Given the description of an element on the screen output the (x, y) to click on. 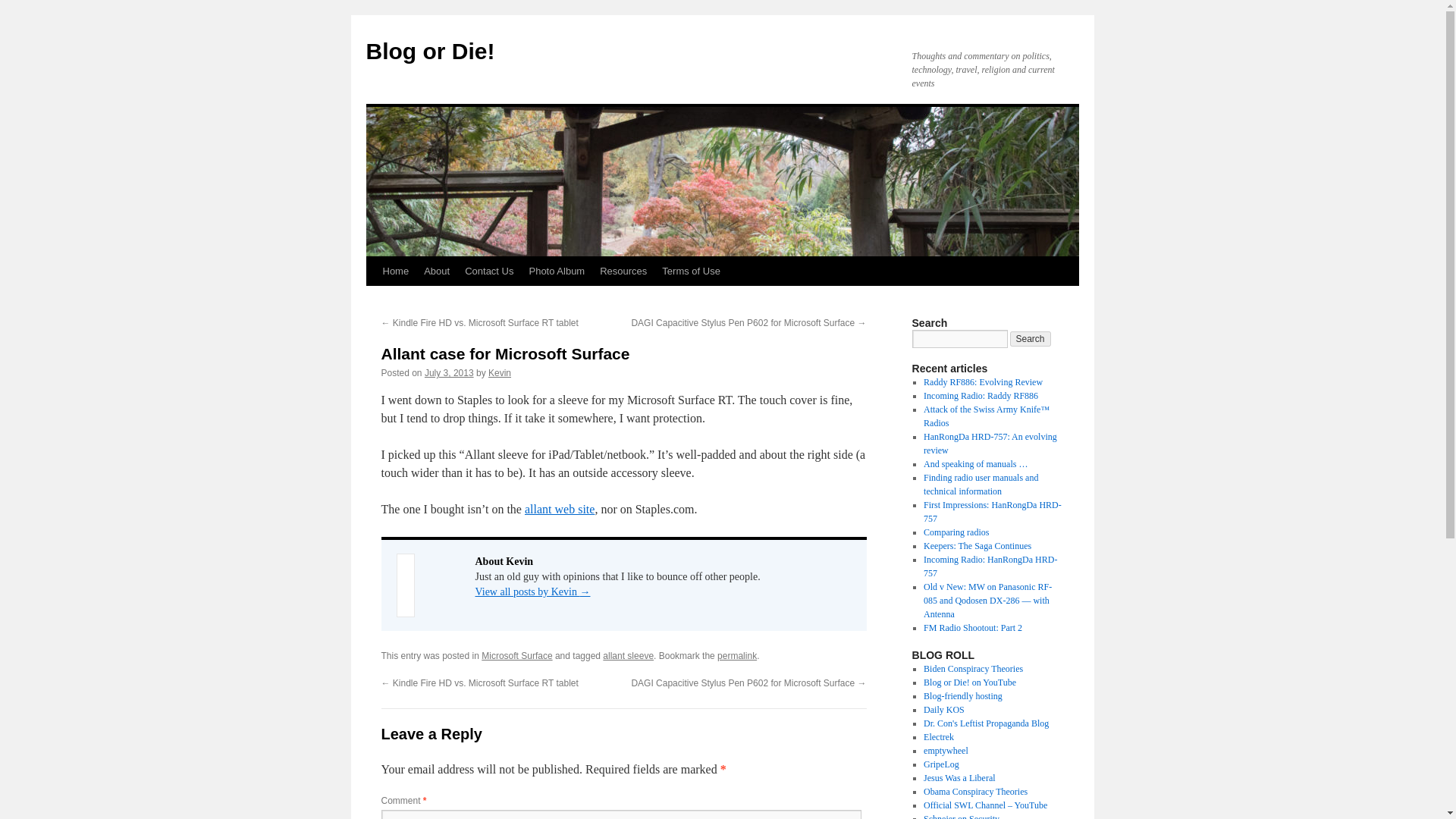
Comparing radios (955, 532)
HanRongDa HRD-757: An evolving review (990, 443)
Keepers: The Saga Continues (976, 545)
Contact Us (489, 271)
allant web site (559, 508)
Finding radio user manuals and technical information (980, 484)
Permalink to Allant case for Microsoft Surface (737, 655)
4:08 pm (449, 372)
The worst in products and services (941, 764)
Progressive commentary (985, 723)
